Given the description of an element on the screen output the (x, y) to click on. 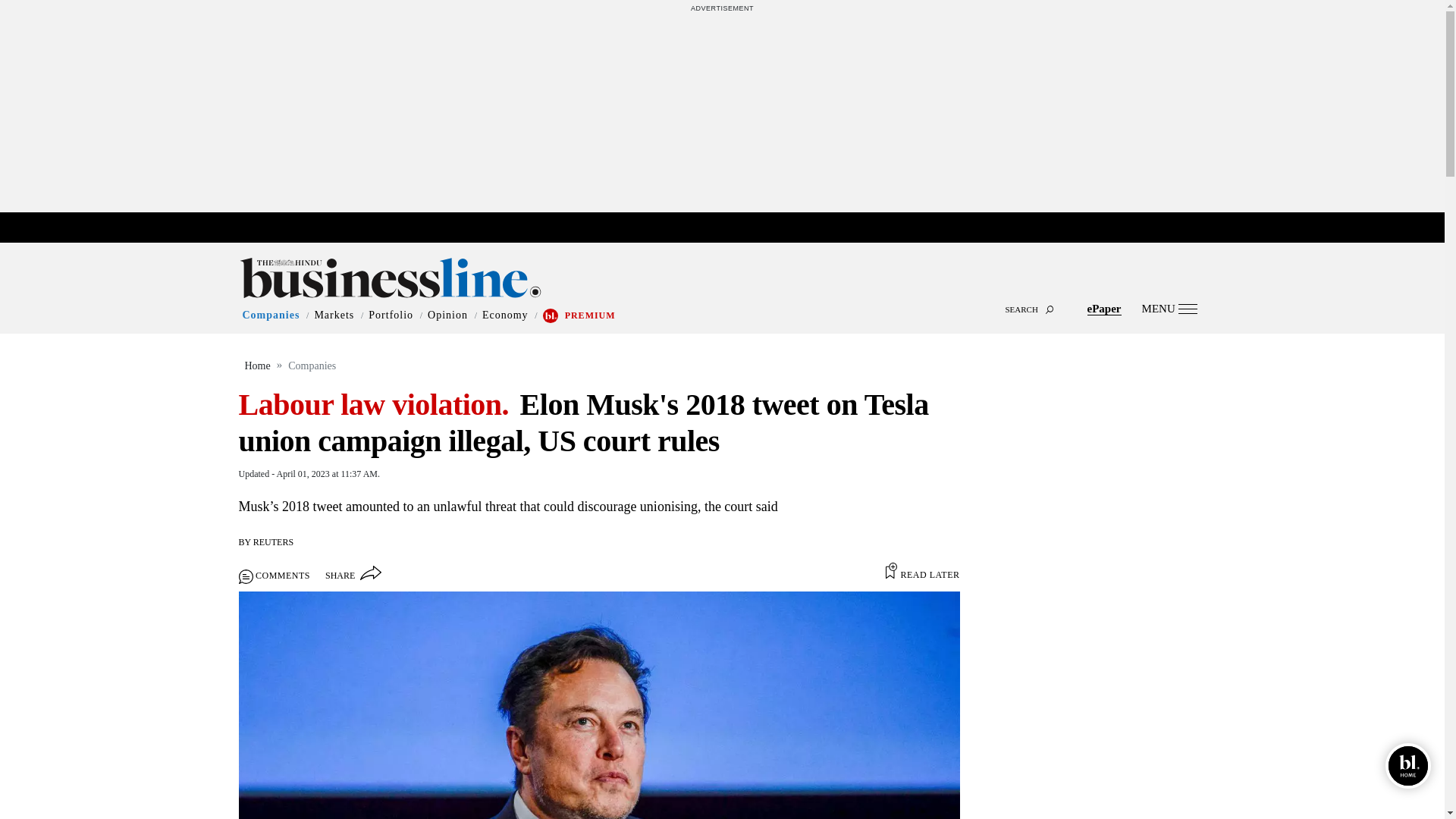
MENU (1168, 308)
ePaper (1104, 308)
marketupdate (729, 228)
Opinion (447, 315)
Markets (333, 315)
PREMIUM (589, 315)
Economy (504, 315)
Companies (271, 315)
